Given the description of an element on the screen output the (x, y) to click on. 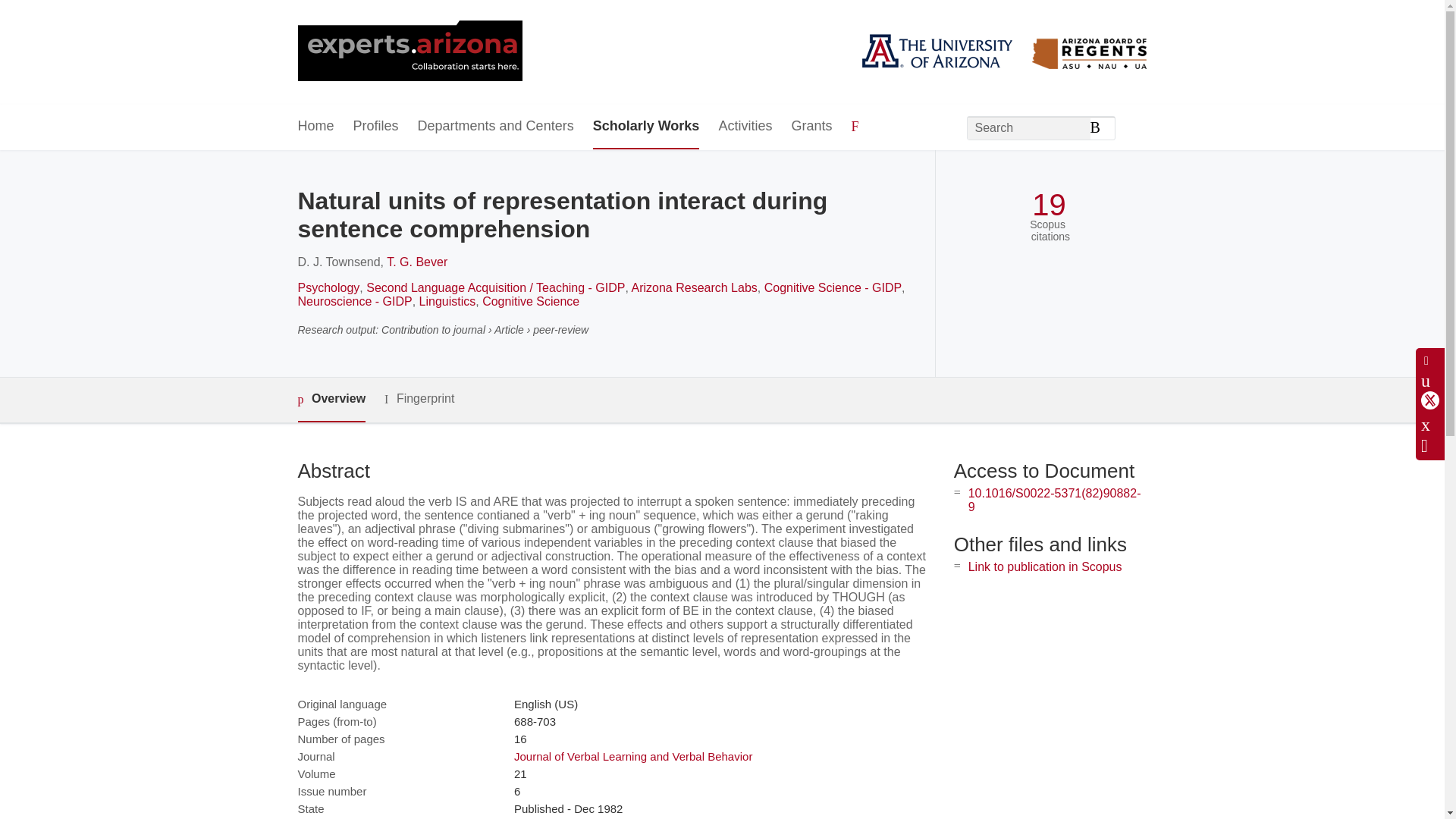
Fingerprint (419, 398)
Link to publication in Scopus (1045, 566)
University of Arizona Home (409, 52)
Grants (810, 126)
T. G. Bever (416, 261)
Overview (331, 399)
Neuroscience - GIDP (354, 300)
Cognitive Science - GIDP (832, 287)
Cognitive Science (530, 300)
Linguistics (447, 300)
Departments and Centers (495, 126)
19 (1048, 204)
Profiles (375, 126)
Psychology (328, 287)
Activities (744, 126)
